Given the description of an element on the screen output the (x, y) to click on. 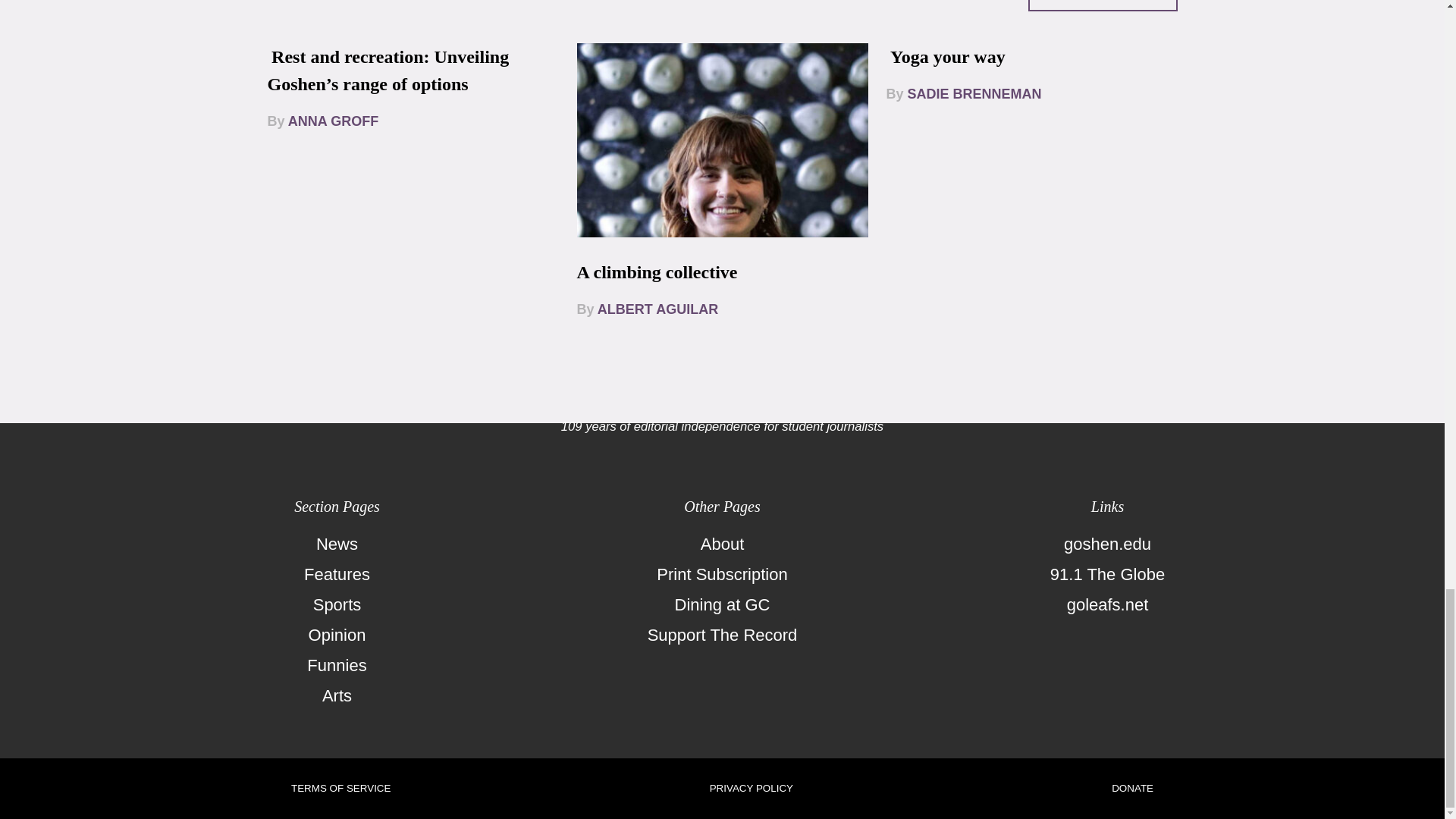
SADIE BRENNEMAN (974, 93)
Features (336, 574)
About (722, 544)
Yoga your way (947, 56)
A climbing collective (656, 271)
ANNA GROFF (333, 120)
Arts (336, 695)
MORE STORIES (1102, 5)
Opinion (336, 634)
News (336, 544)
